Given the description of an element on the screen output the (x, y) to click on. 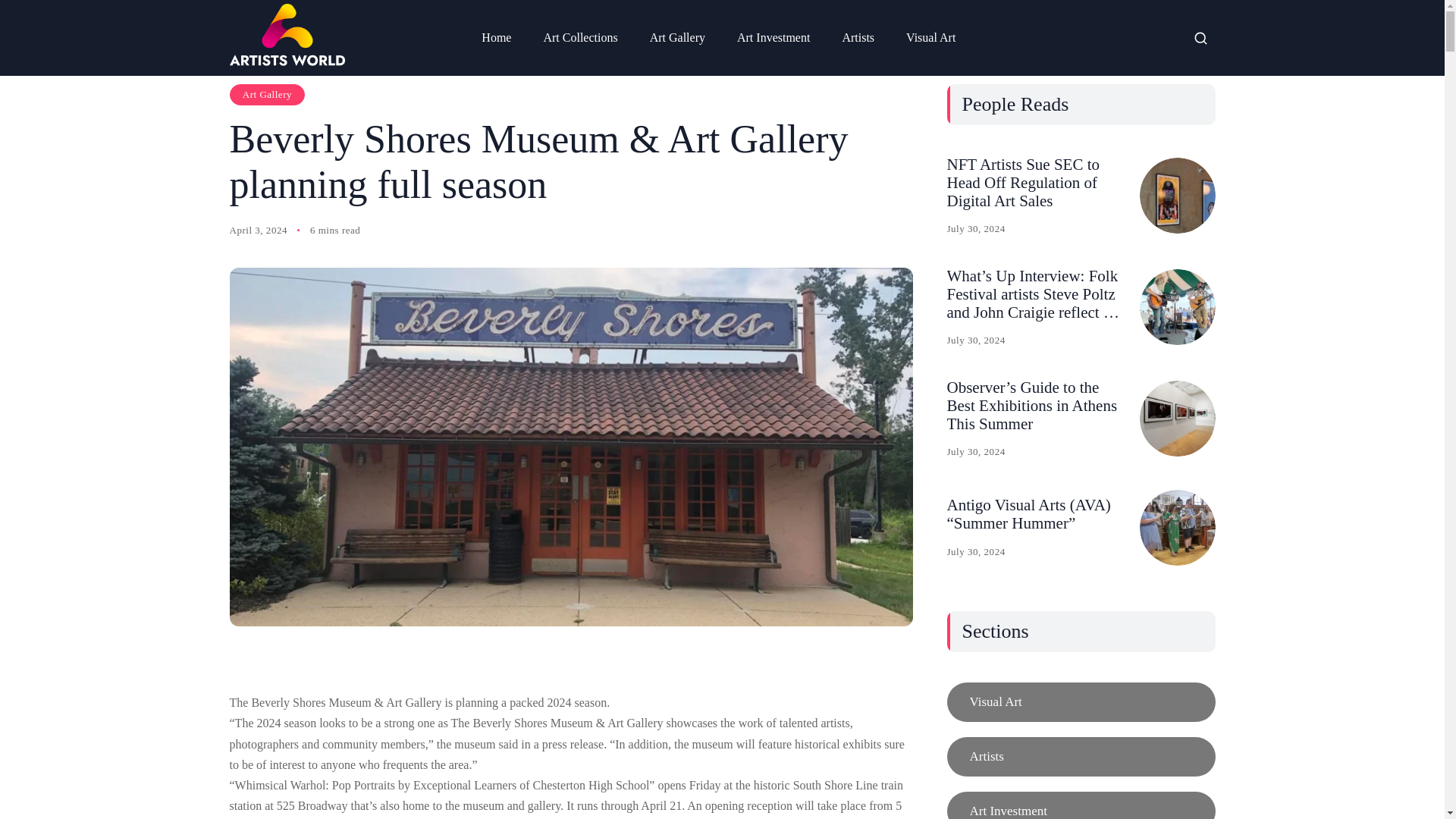
Art Investment (773, 38)
Art Collections (579, 38)
Visual Art (930, 38)
Artists (1080, 756)
Art Gallery (266, 94)
Art Gallery (677, 38)
April 3, 2024 (257, 230)
Visual Art (1080, 701)
Artists World (285, 34)
